Given the description of an element on the screen output the (x, y) to click on. 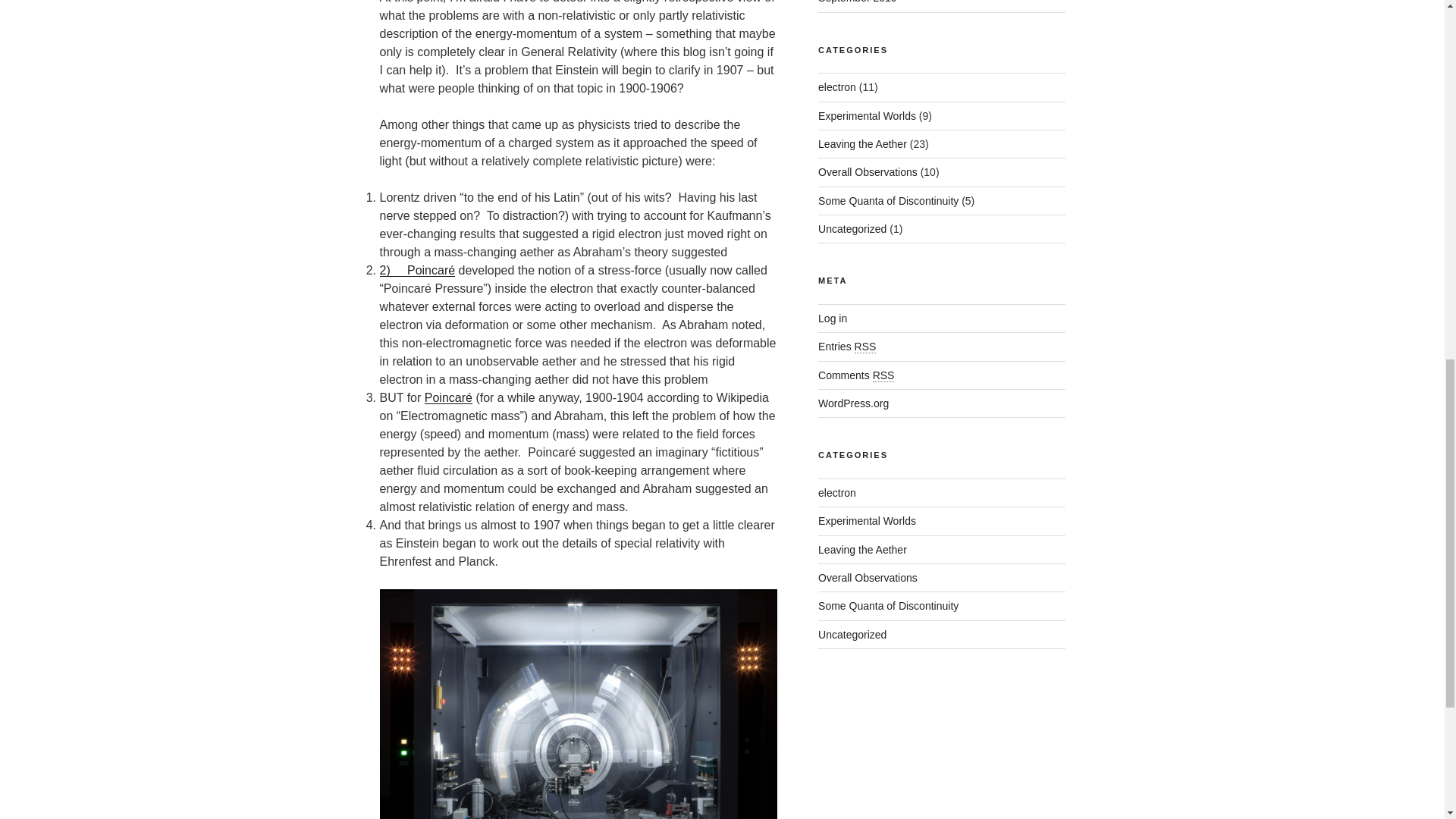
Leaving the Aether (862, 549)
Overall Observations (867, 577)
Leaving the Aether (862, 143)
Really Simple Syndication (883, 375)
Entries RSS (847, 346)
Some Quanta of Discontinuity (888, 200)
Comments RSS (855, 375)
September 2019 (857, 2)
electron (837, 492)
Uncategorized (852, 634)
electron (837, 87)
Uncategorized (852, 228)
Experimental Worlds (866, 521)
WordPress.org (853, 403)
